Given the description of an element on the screen output the (x, y) to click on. 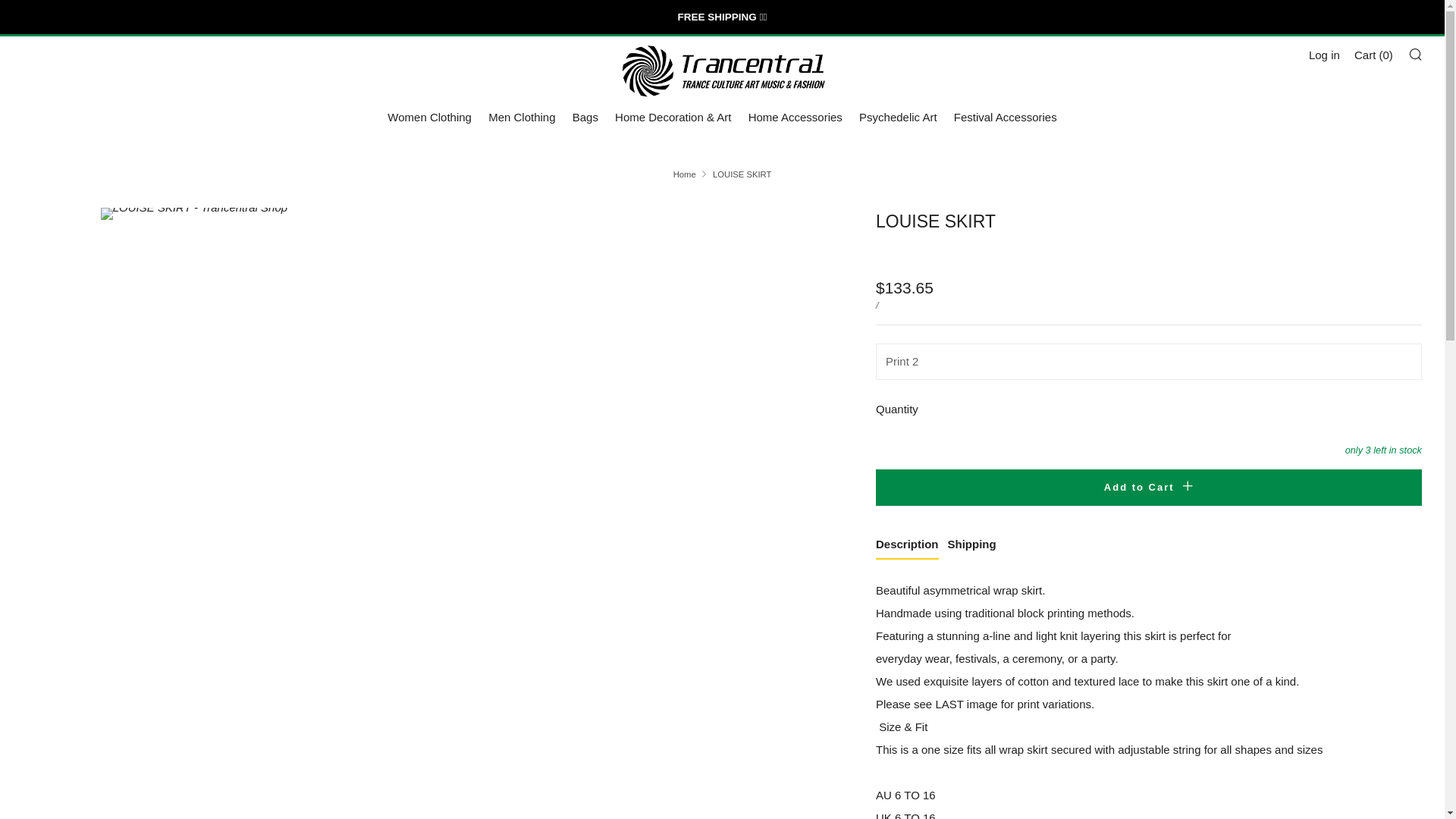
Festival Accessories (1005, 117)
Home (683, 174)
Home (683, 174)
Shipping (971, 546)
Psychedelic Art (898, 117)
Home Accessories (795, 117)
Men Clothing (520, 117)
Add to Cart (1149, 487)
Log in (1323, 55)
Women Clothing (429, 117)
